Given the description of an element on the screen output the (x, y) to click on. 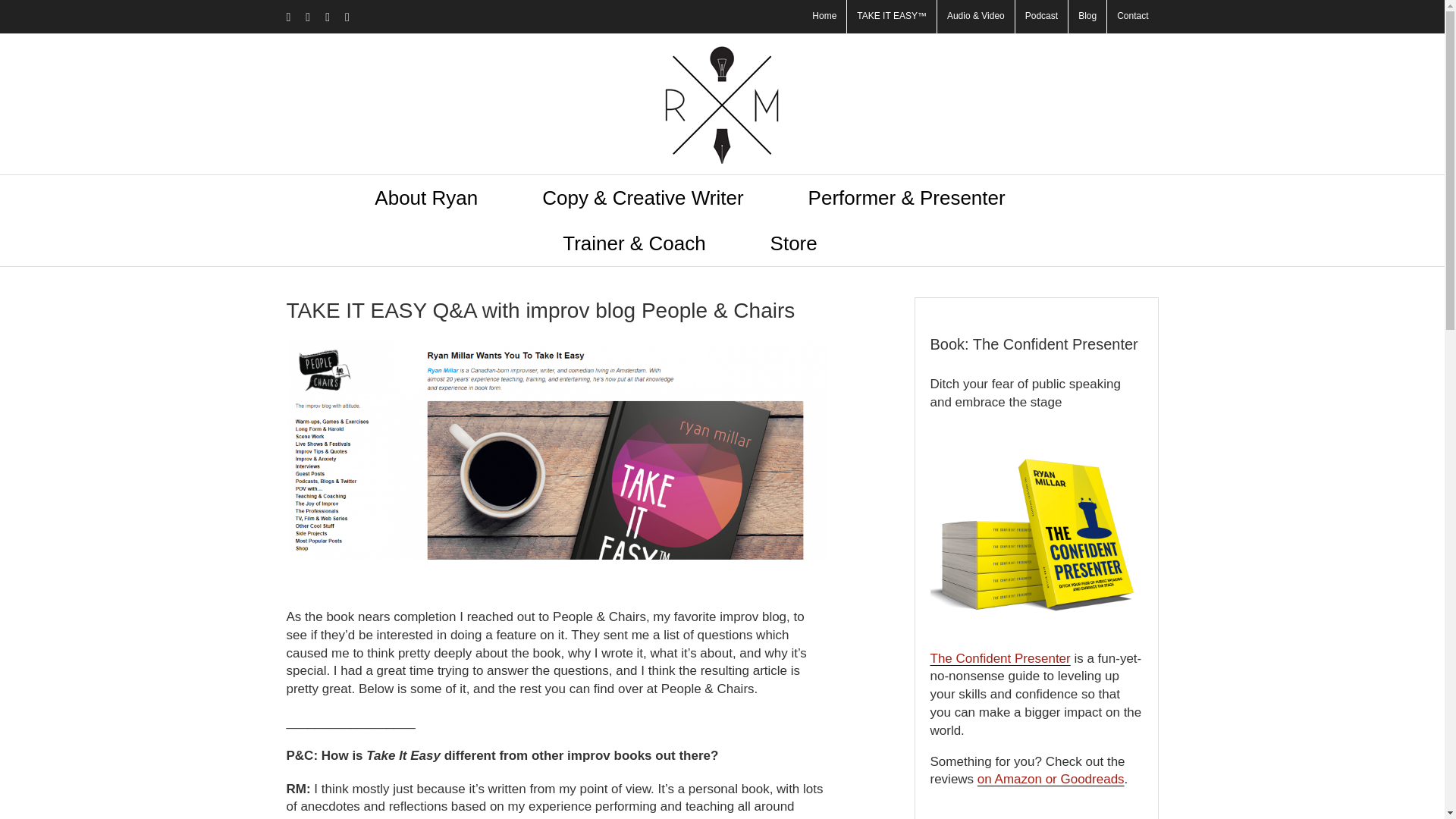
Store (793, 243)
Home (823, 16)
on Amazon or Goodreads (1050, 779)
Contact (1131, 16)
Podcast (1040, 16)
The Confident Presenter (1000, 658)
About Ryan (425, 197)
Blog (1087, 16)
